Given the description of an element on the screen output the (x, y) to click on. 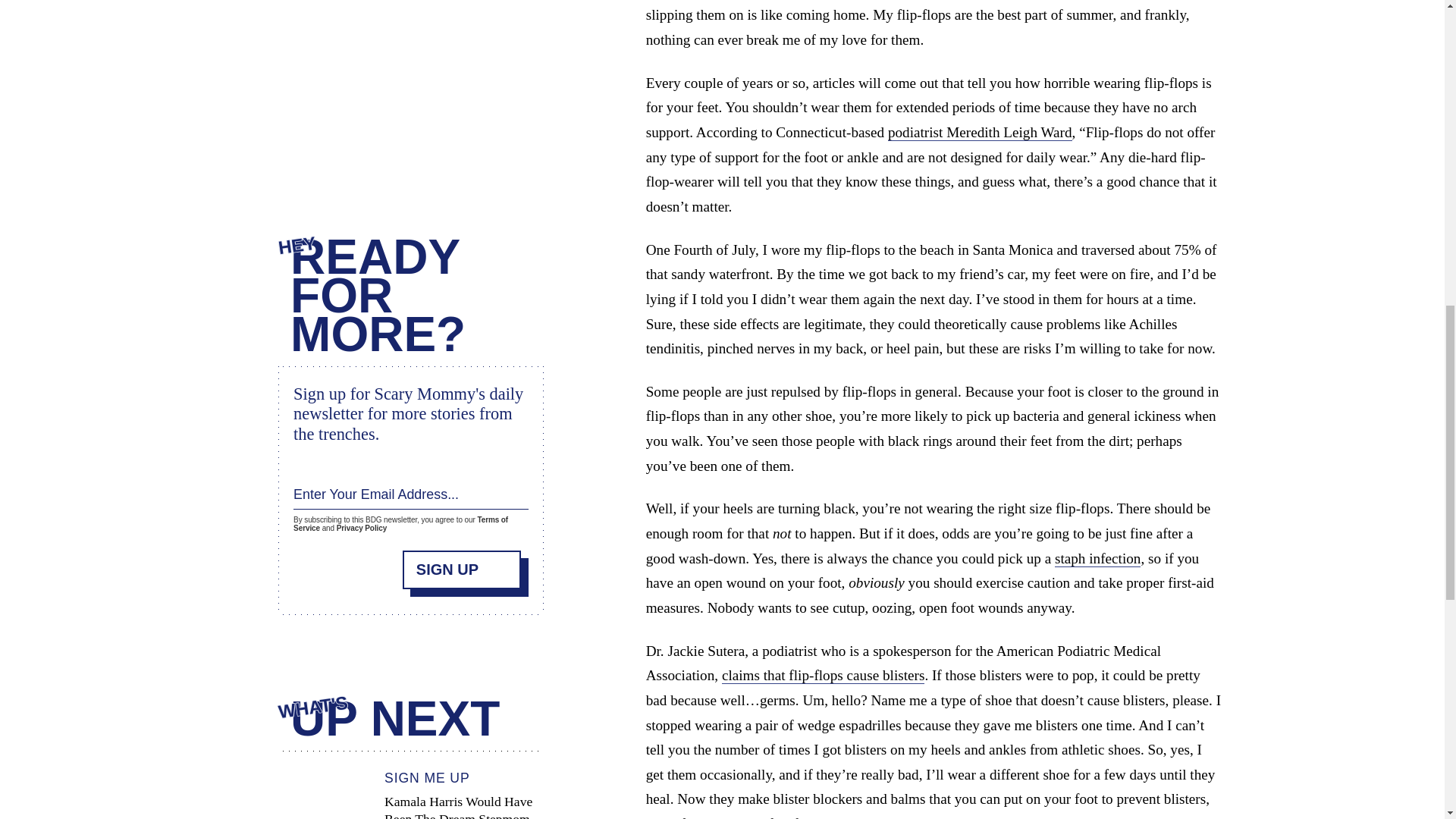
SIGN UP (462, 569)
claims that flip-flops cause blisters (823, 675)
staph infection (1097, 558)
Terms of Service (401, 523)
Privacy Policy (361, 528)
podiatrist Meredith Leigh Ward (979, 132)
